Given the description of an element on the screen output the (x, y) to click on. 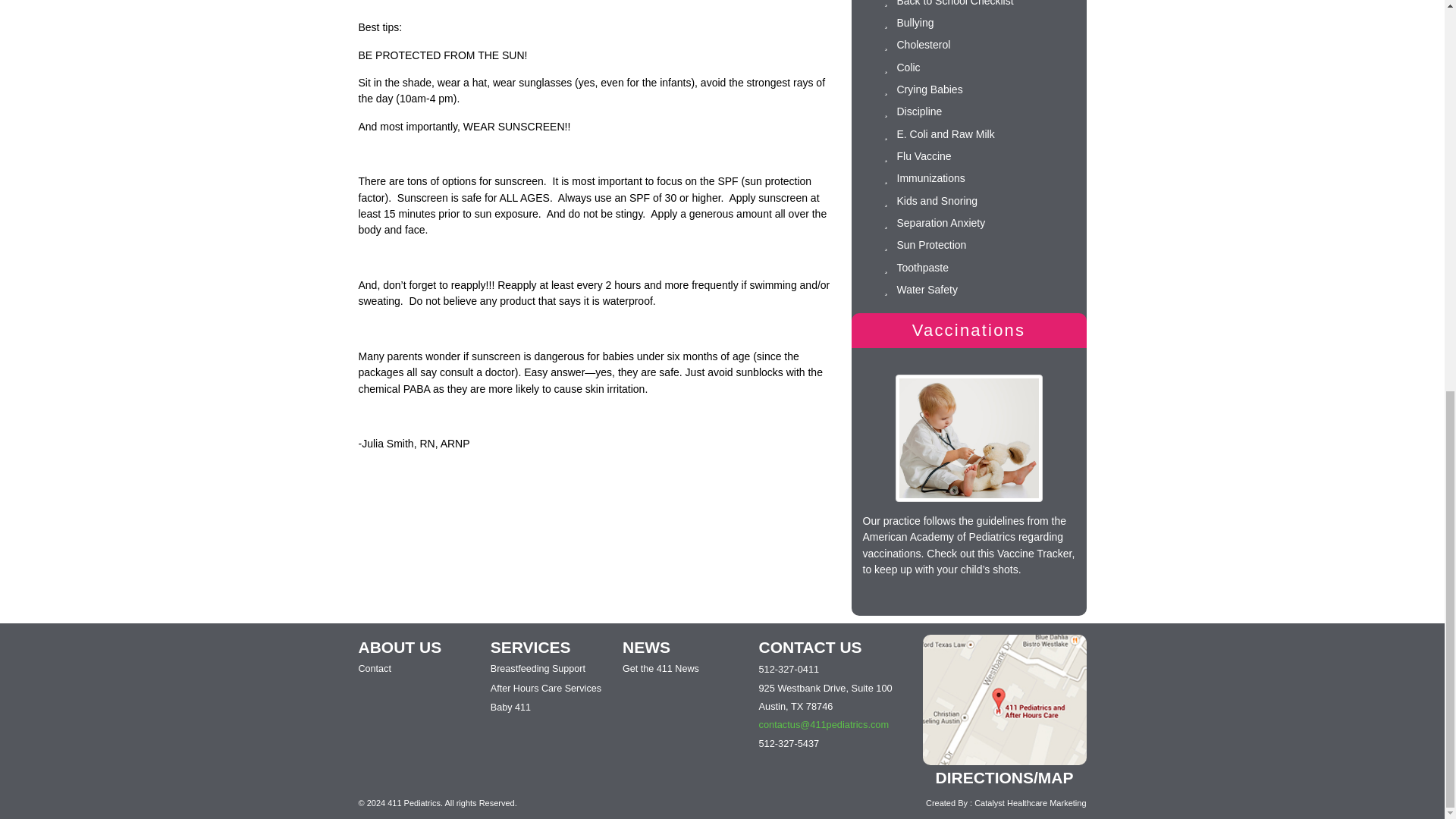
Bullying (914, 22)
Colic (908, 67)
Discipline (919, 111)
Crying Babies (929, 89)
Back to School Checklist (954, 3)
Cholesterol (923, 44)
Immunizations (929, 177)
Flu Vaccine (923, 155)
E. Coli and Raw Milk (945, 133)
